Given the description of an element on the screen output the (x, y) to click on. 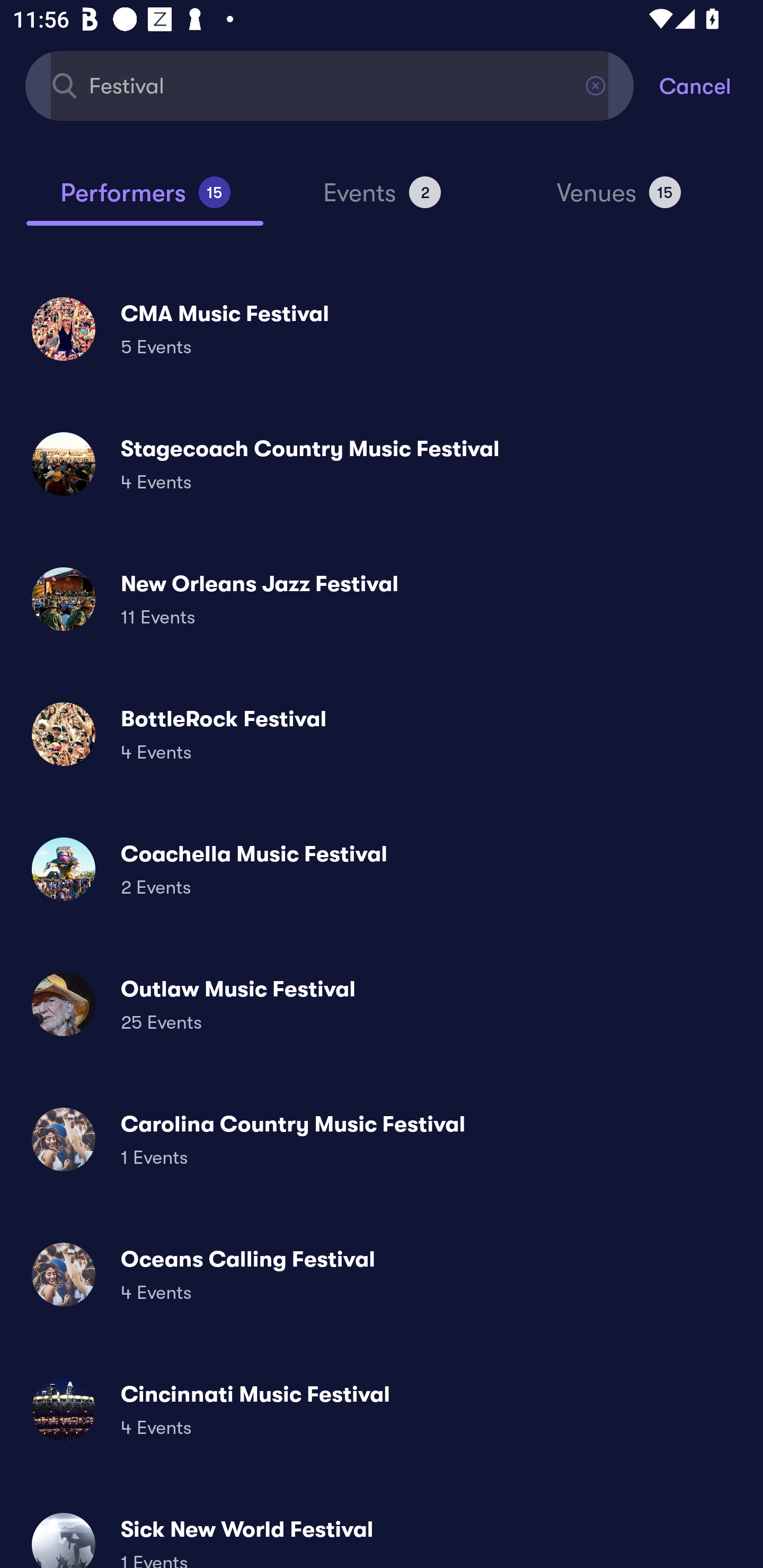
Festival Find (329, 85)
Festival Find (329, 85)
Cancel (711, 85)
Performers 15 (144, 200)
Events 2 (381, 200)
Venues 15 (618, 200)
CMA Music Festival 5 Events (381, 328)
Stagecoach Country Music Festival 4 Events (381, 464)
New Orleans Jazz Festival 11 Events (381, 598)
BottleRock Festival 4 Events (381, 734)
Coachella Music Festival 2 Events (381, 869)
Outlaw Music Festival 25 Events (381, 1004)
Carolina Country Music Festival 1 Events (381, 1138)
Oceans Calling Festival 4 Events (381, 1273)
Cincinnati Music Festival 4 Events (381, 1409)
Sick New World Festival 1 Events (381, 1532)
